Given the description of an element on the screen output the (x, y) to click on. 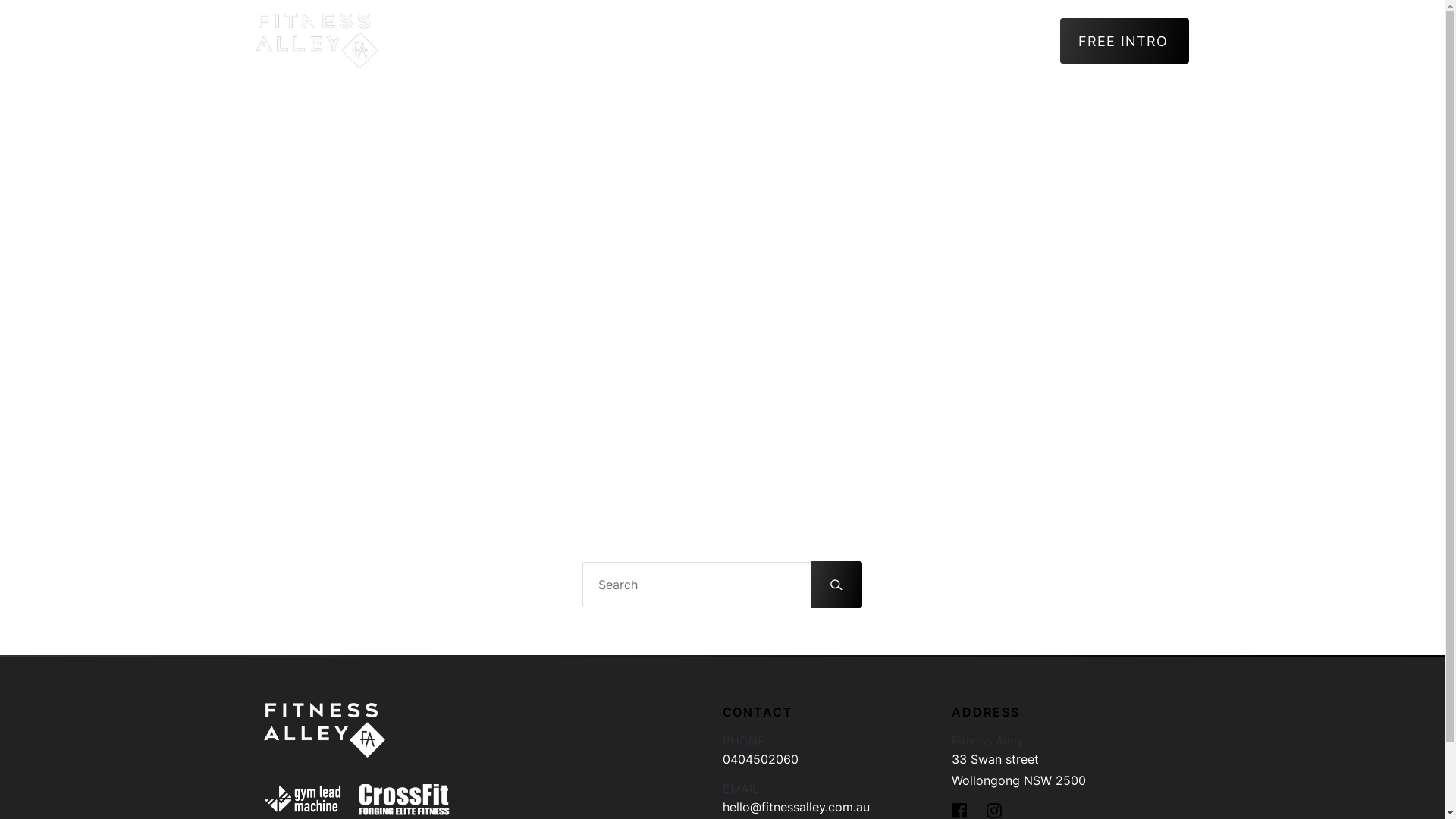
Fitness Alley
33 Swan street
Wollongong NSW 2500 Element type: text (1066, 761)
0404502060 Element type: text (759, 758)
About Element type: text (816, 40)
Programs Element type: text (997, 40)
hello@fitnessalley.com.au Element type: text (795, 806)
More info Element type: text (897, 40)
FREE INTRO Element type: text (1124, 40)
